Given the description of an element on the screen output the (x, y) to click on. 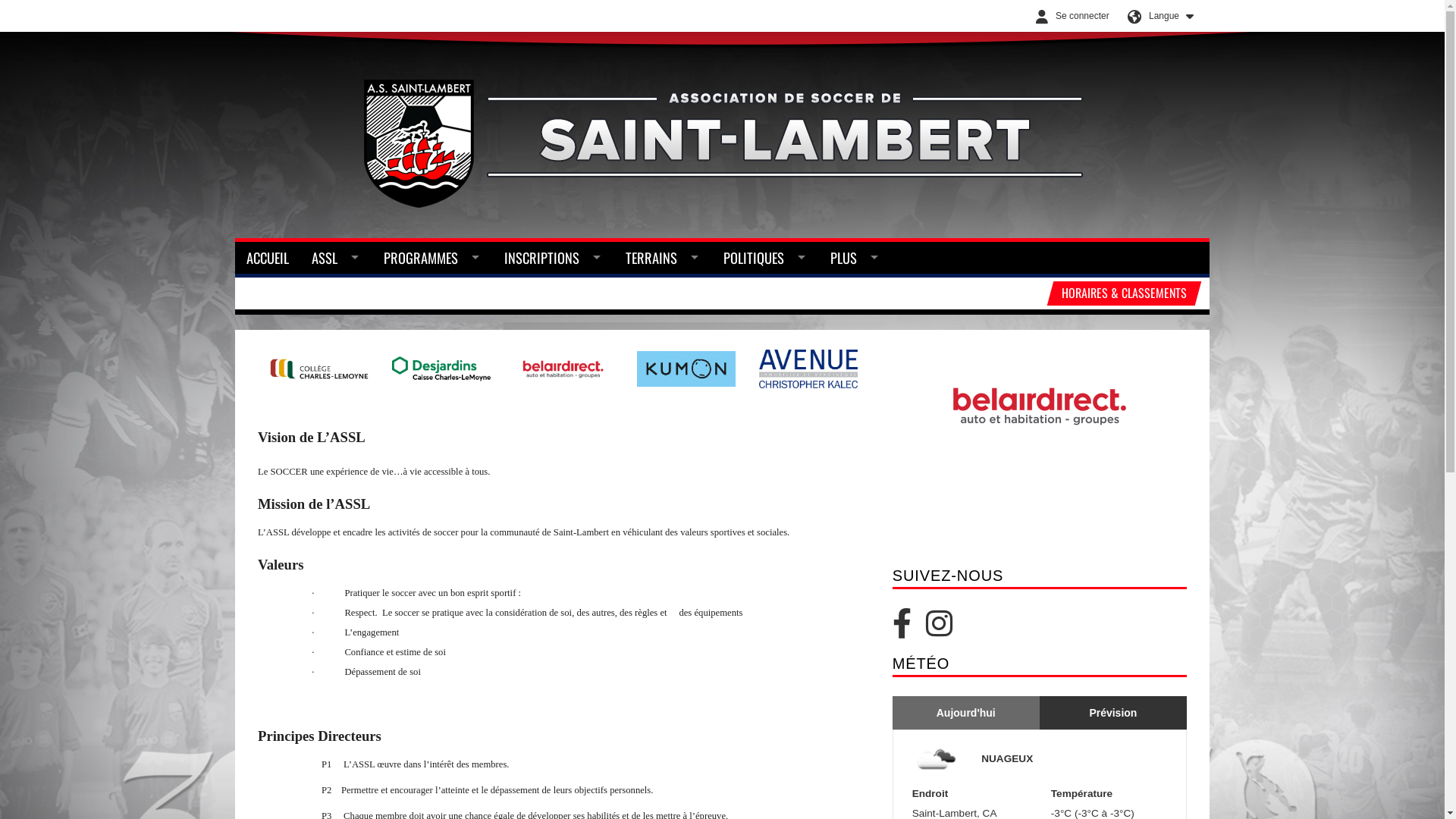
PLUS Element type: text (855, 257)
Aujourd'Hui Element type: text (965, 712)
ASSL Element type: text (336, 257)
Se connecter Element type: text (1068, 15)
Facebook Element type: hover (908, 630)
ACCUEIL Element type: text (267, 257)
POLITIQUES Element type: text (765, 257)
INSCRIPTIONS Element type: text (553, 257)
Instagram Element type: hover (944, 630)
PROGRAMMES Element type: text (432, 257)
HORAIRES & CLASSEMENTS Element type: text (1121, 293)
Langue Element type: text (1155, 15)
TERRAINS Element type: text (663, 257)
